Given the description of an element on the screen output the (x, y) to click on. 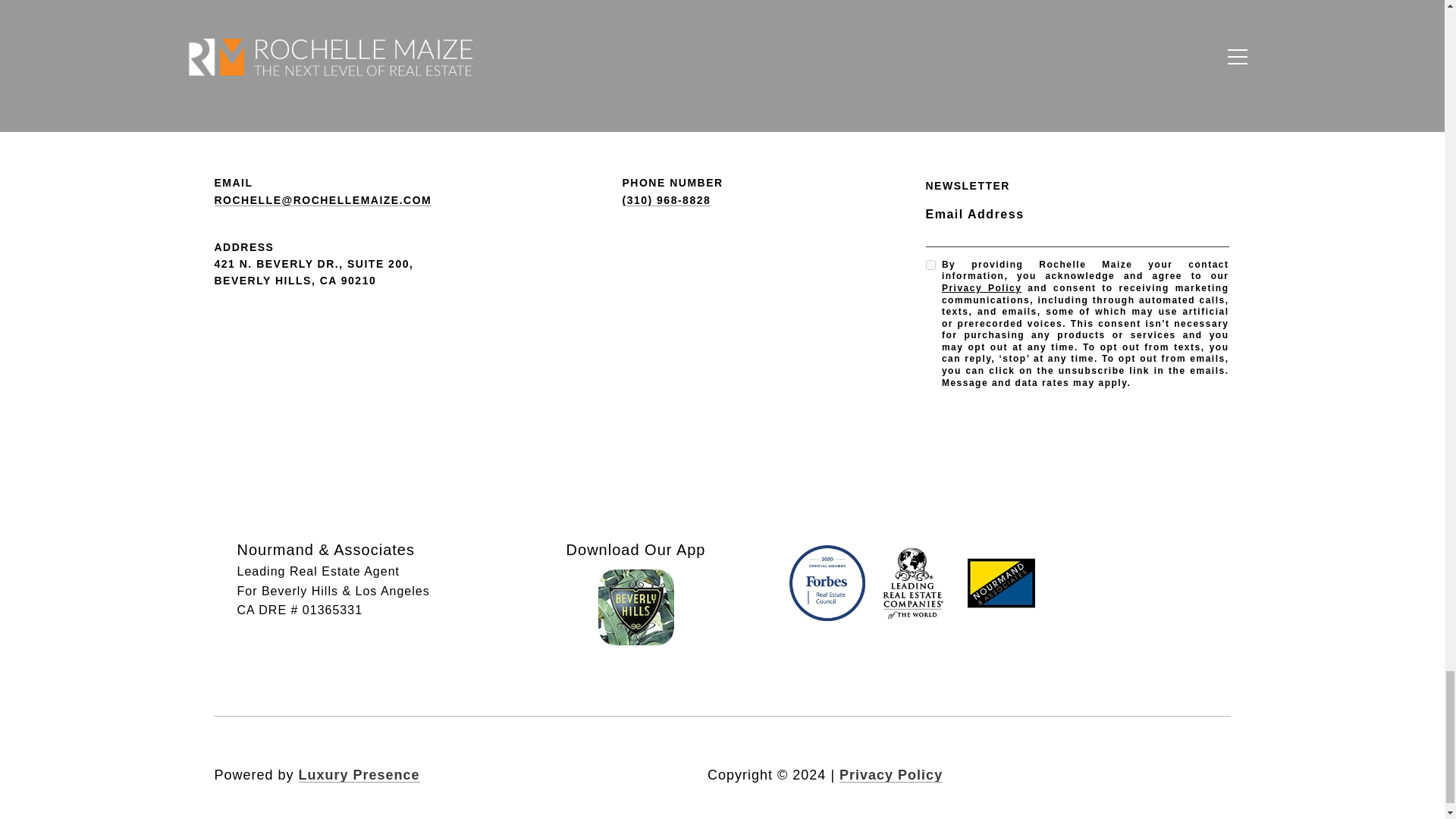
on (929, 265)
